Given the description of an element on the screen output the (x, y) to click on. 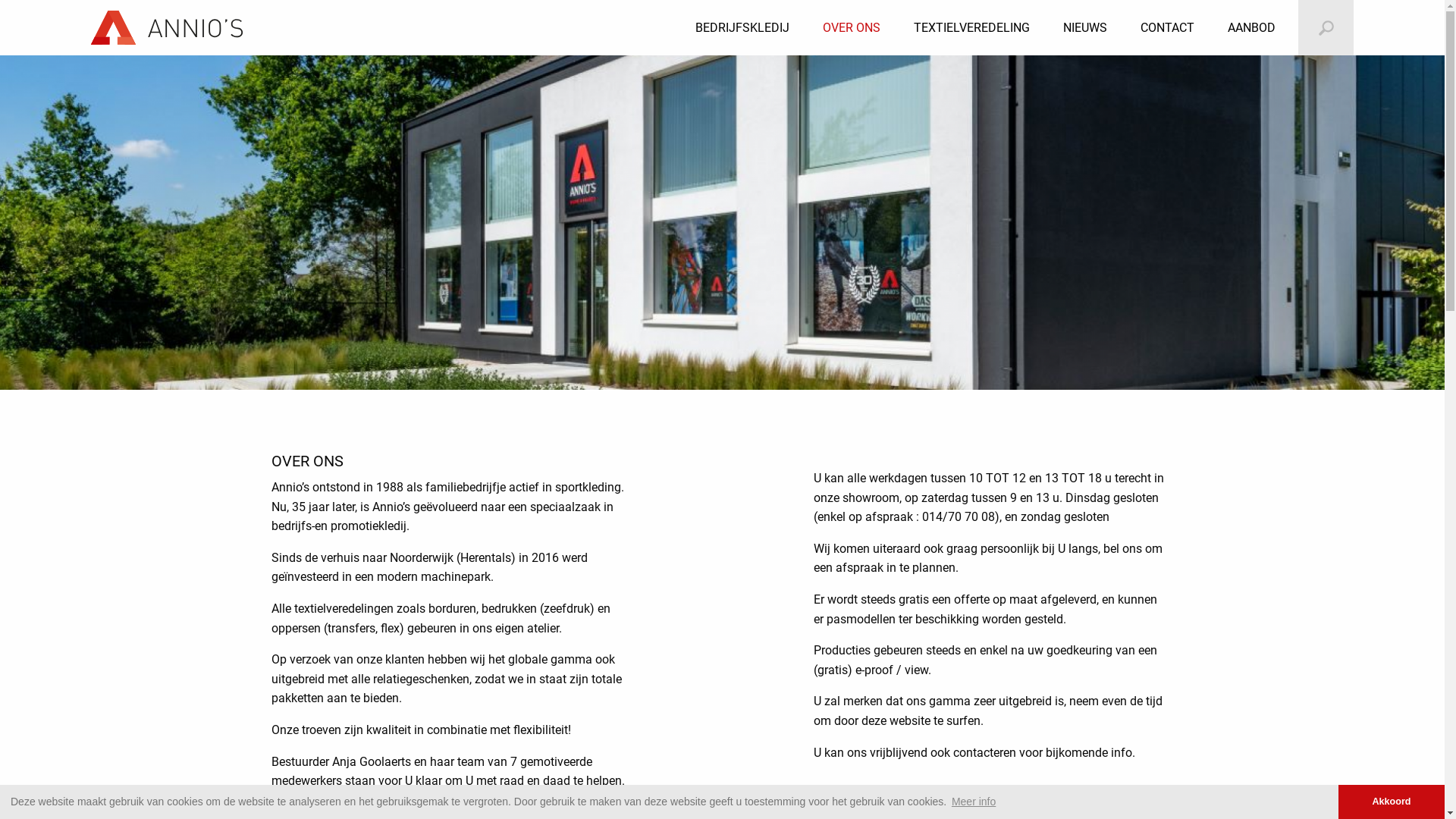
BEDRIJFSKLEDIJ Element type: text (742, 27)
CONTACT Element type: text (1167, 27)
AANBOD Element type: text (1251, 27)
NIEUWS Element type: text (1085, 27)
OVER ONS Element type: text (851, 27)
TEXTIELVEREDELING Element type: text (971, 27)
Meer info Element type: text (973, 801)
